Given the description of an element on the screen output the (x, y) to click on. 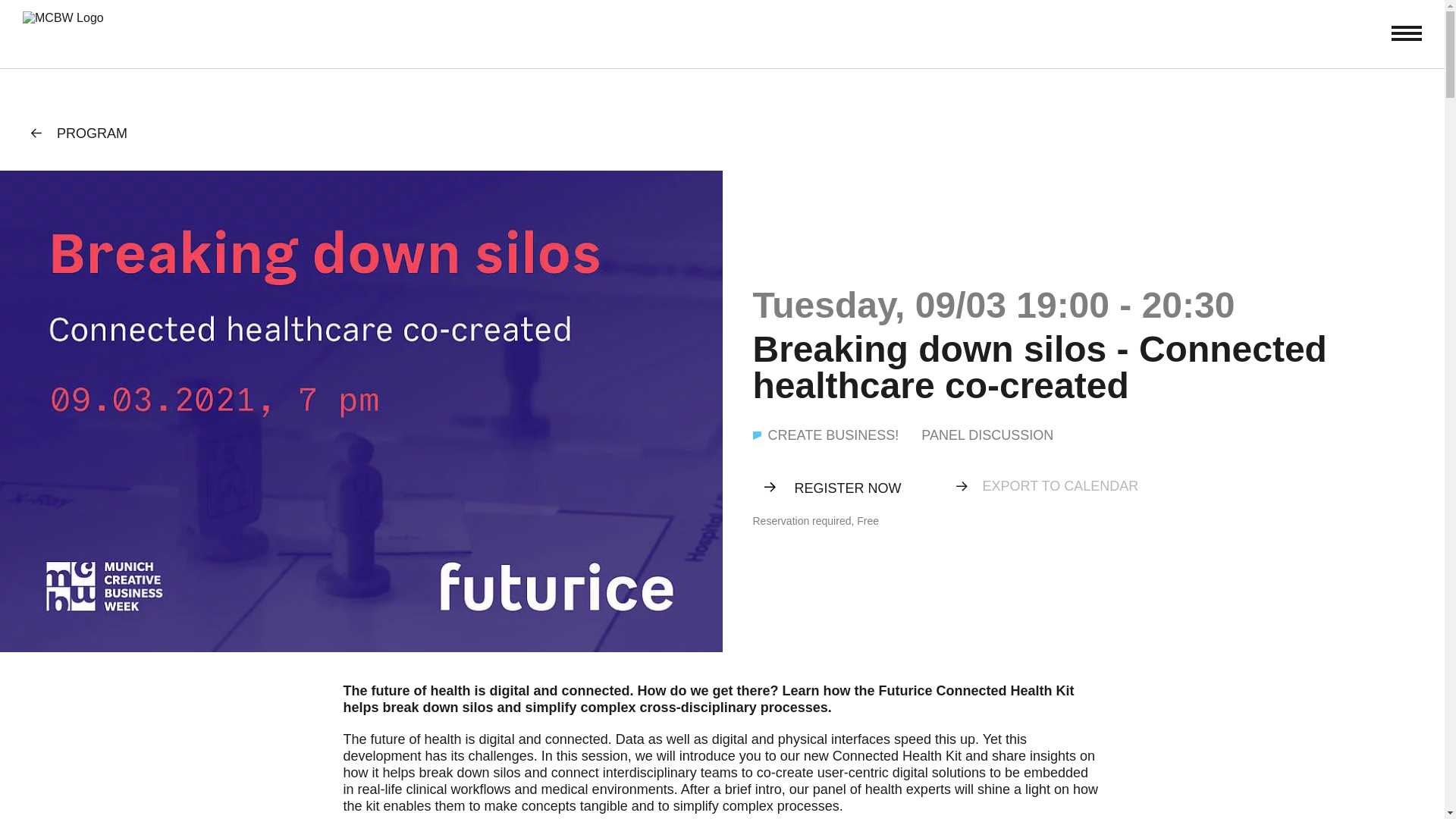
PROGRAM (79, 133)
Export to calendar (1060, 486)
REGISTER NOW (838, 488)
Export to calendar (1060, 486)
